Given the description of an element on the screen output the (x, y) to click on. 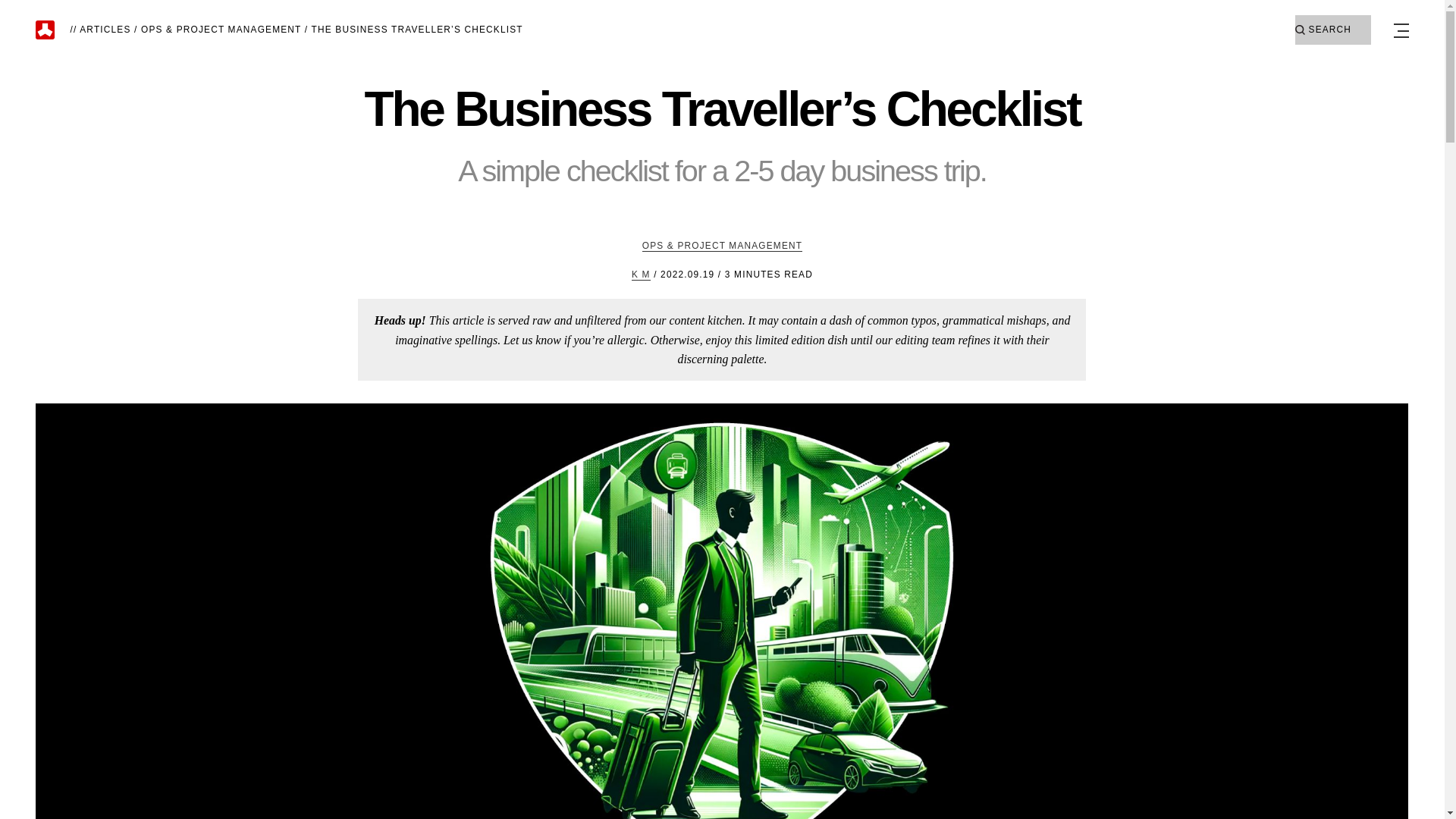
Posts by K M (640, 274)
Search for: (1333, 30)
ARTICLES (105, 30)
K M (640, 274)
